Given the description of an element on the screen output the (x, y) to click on. 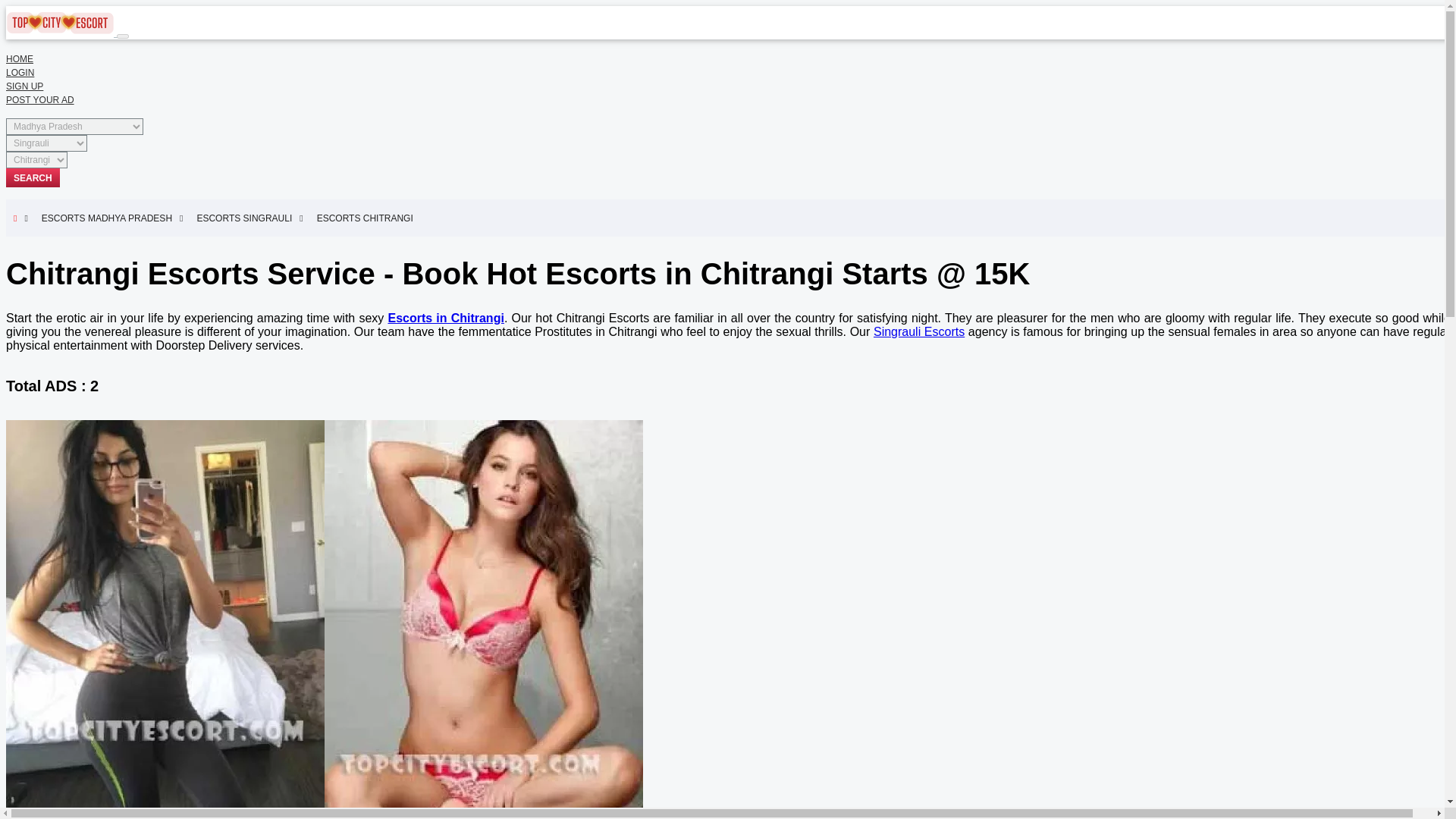
Search (32, 177)
ESCORTS MADHYA PRADESH (112, 217)
SIGN UP (24, 86)
HOME (19, 59)
POST YOUR AD (39, 100)
Escorts in Chitrangi (445, 318)
ESCORTS CHITRANGI (368, 217)
LOGIN (19, 72)
Search (32, 177)
Singrauli Escorts (918, 331)
ESCORTS SINGRAULI (249, 217)
